Given the description of an element on the screen output the (x, y) to click on. 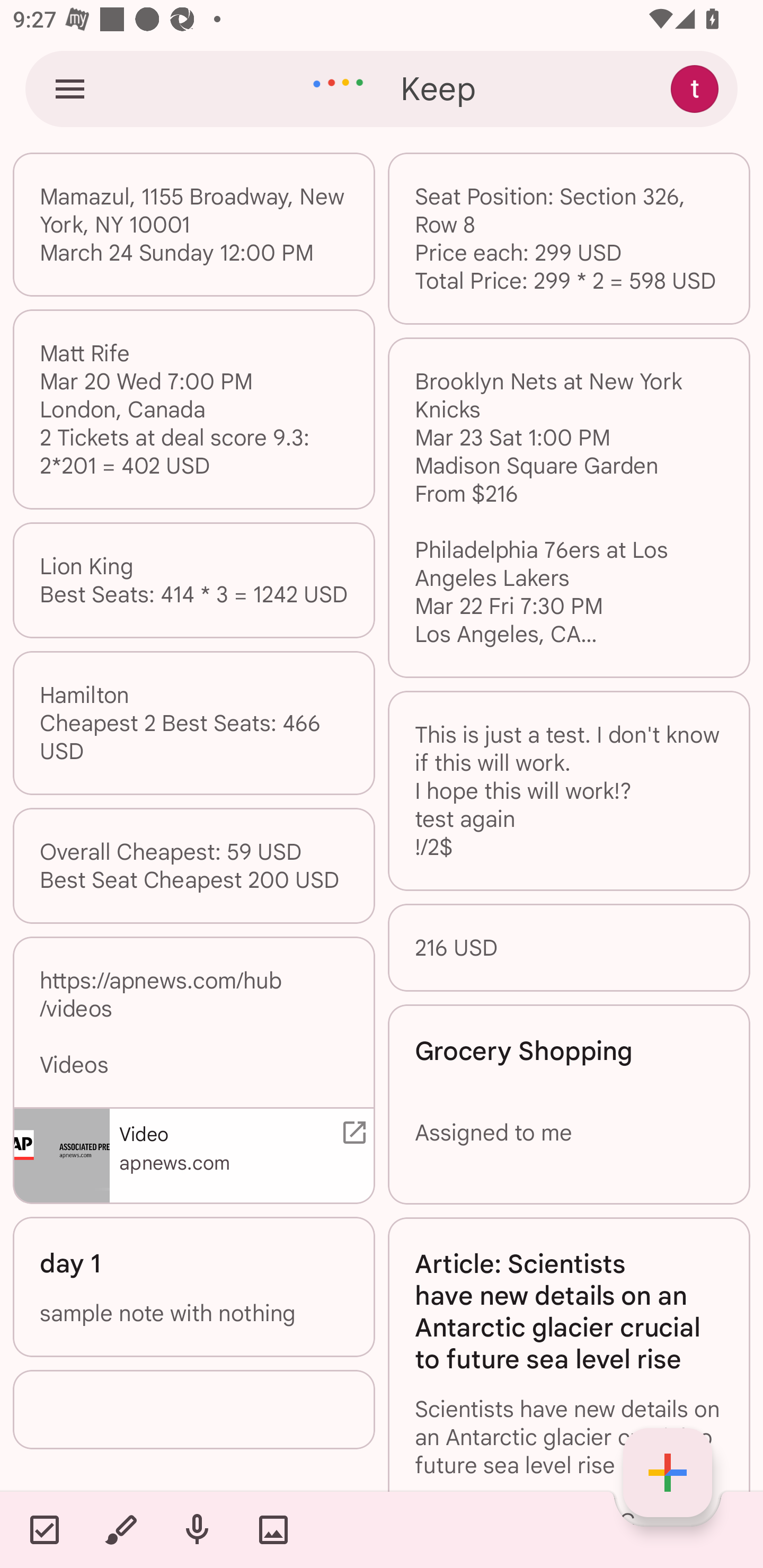
Open navigation drawer (70, 88)
Account and settings. (696, 88)
216 USD.  216 USD (568, 946)
Link preview popout (350, 1132)
.  (193, 1409)
New text note (667, 1472)
New list (44, 1529)
New drawing note (120, 1529)
New audio note (196, 1529)
New photo note (273, 1529)
